Given the description of an element on the screen output the (x, y) to click on. 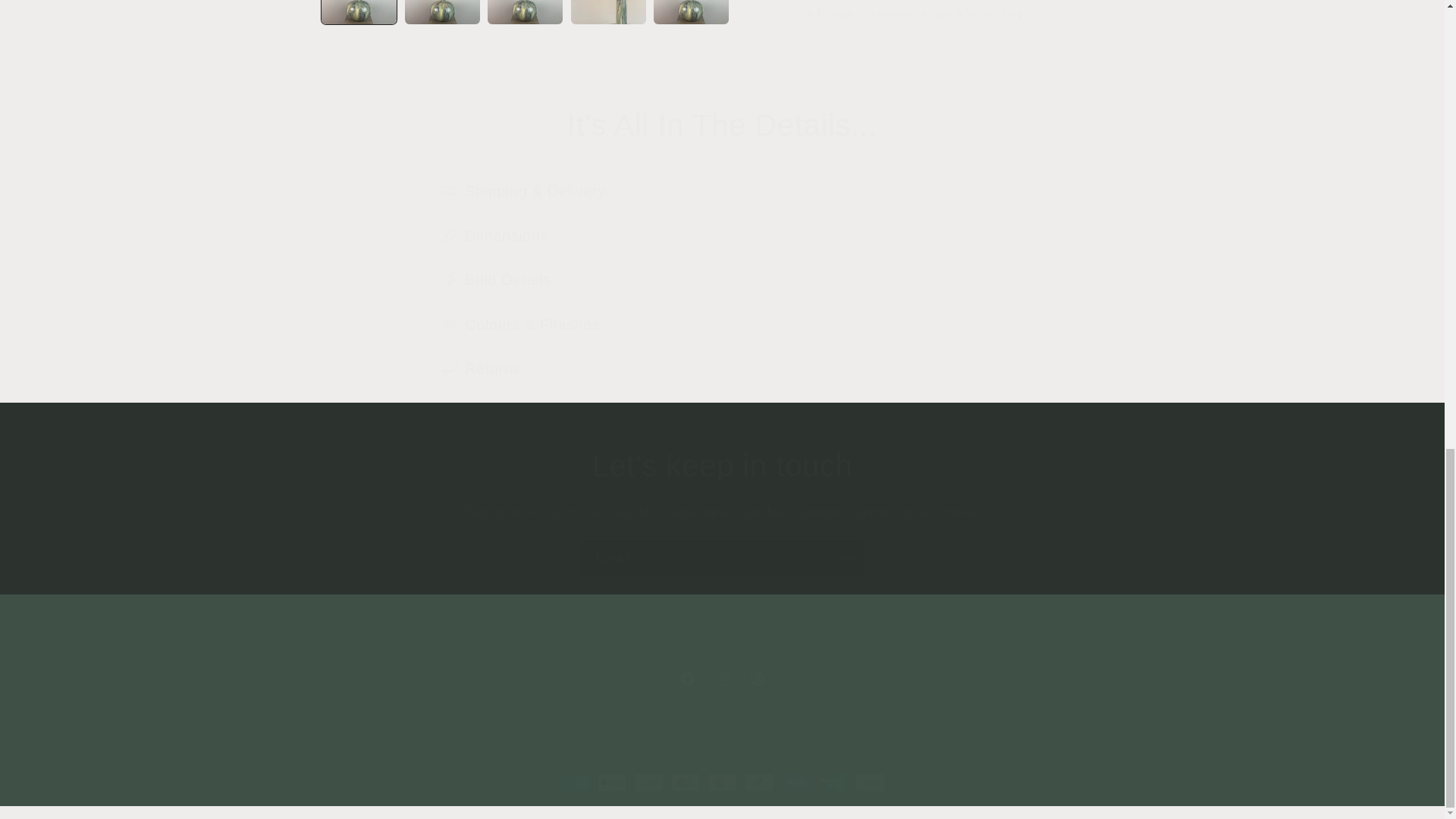
Let's keep in touch (722, 465)
It's All In The Details... (722, 124)
Email (721, 678)
